Given the description of an element on the screen output the (x, y) to click on. 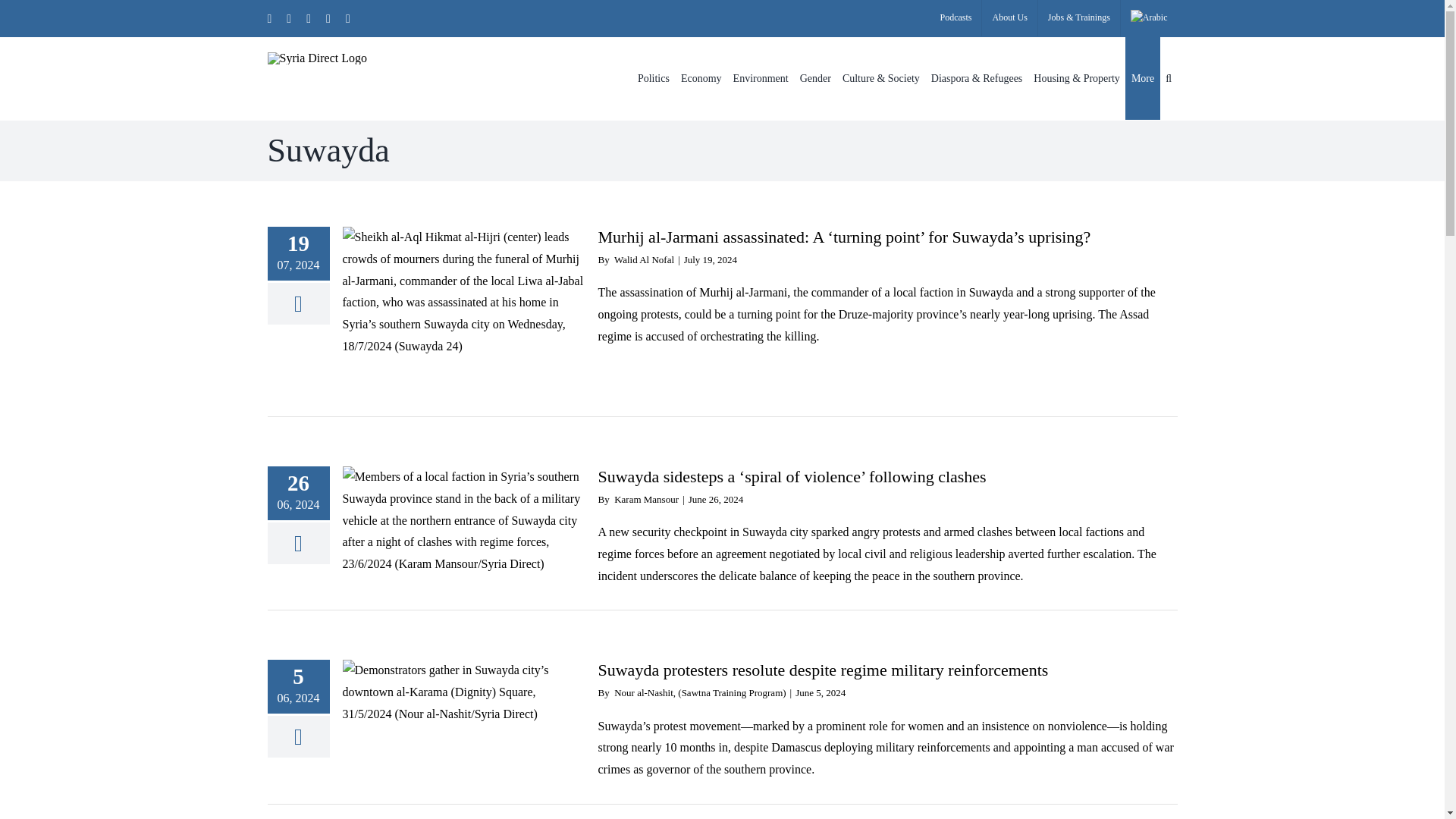
About Us (1008, 18)
Politics (653, 77)
Search (1168, 77)
X (268, 18)
SoundCloud (328, 18)
YouTube (348, 18)
More (1141, 77)
YouTube (348, 18)
Facebook (288, 18)
Podcasts (955, 18)
Facebook (288, 18)
Gender (814, 77)
Environment (759, 77)
Economy (700, 77)
SoundCloud (328, 18)
